Given the description of an element on the screen output the (x, y) to click on. 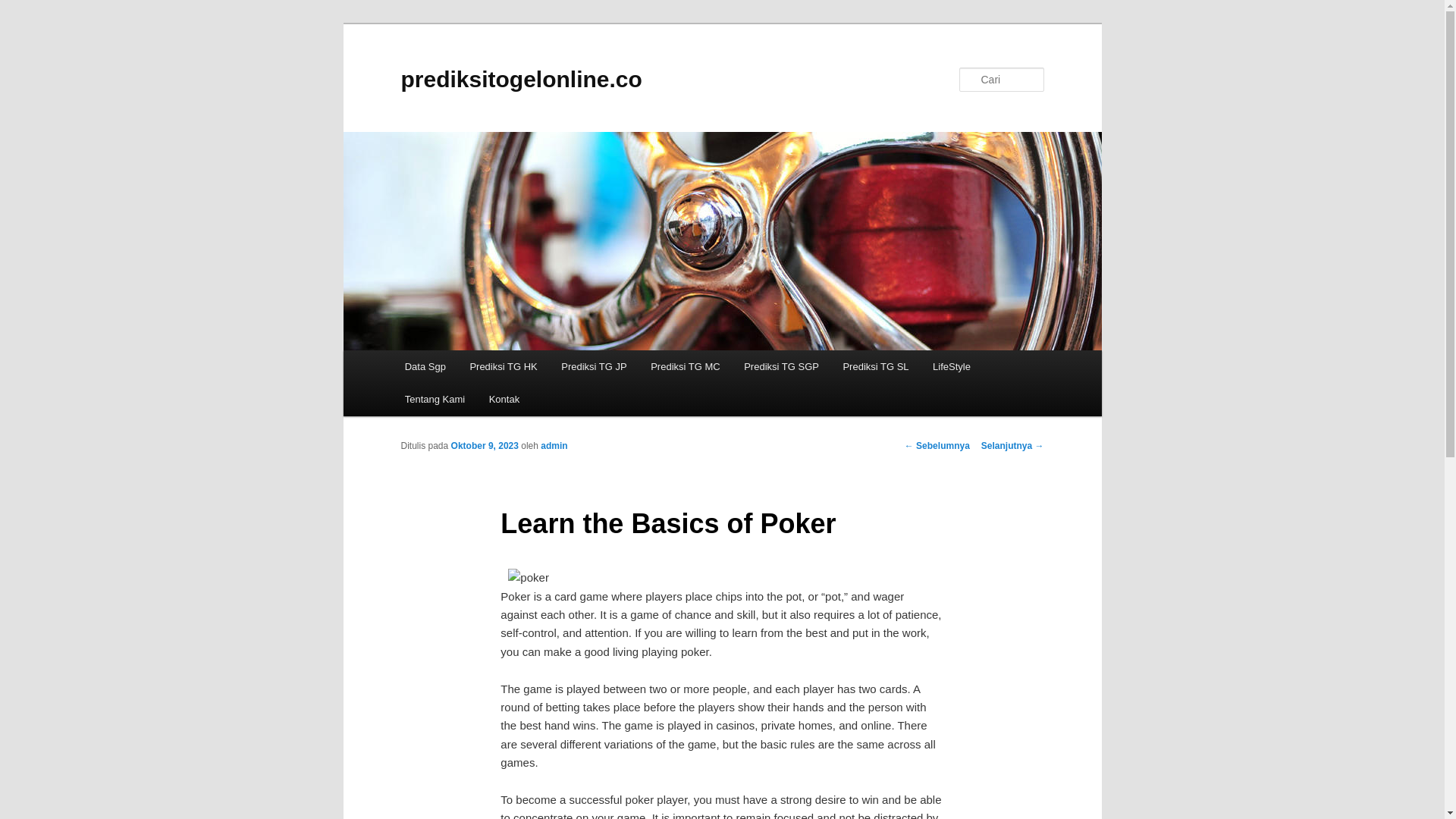
admin (553, 445)
Oktober 9, 2023 (484, 445)
Prediksi TG MC (685, 366)
Data Sgp (425, 366)
Prediksi TG SL (876, 366)
2:22 pm (484, 445)
Cari (16, 8)
Prediksi TG JP (593, 366)
LifeStyle (950, 366)
Prediksi TG HK (504, 366)
